Given the description of an element on the screen output the (x, y) to click on. 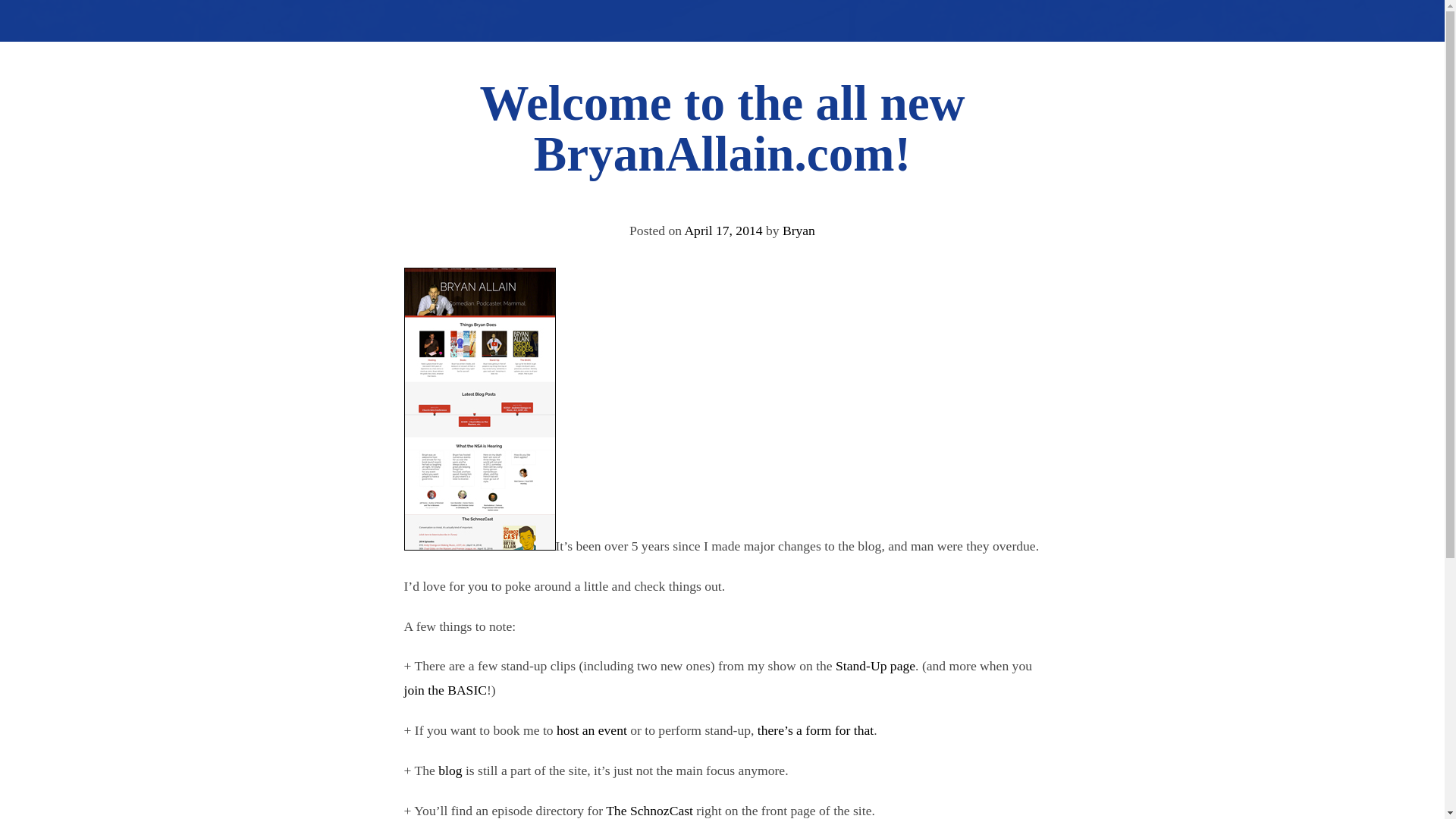
host an event (591, 729)
Bryan (799, 230)
April 17, 2014 (722, 230)
The SchnozCast (649, 809)
blog (449, 770)
Stand-Up page (875, 665)
join the BASIC (444, 689)
